Given the description of an element on the screen output the (x, y) to click on. 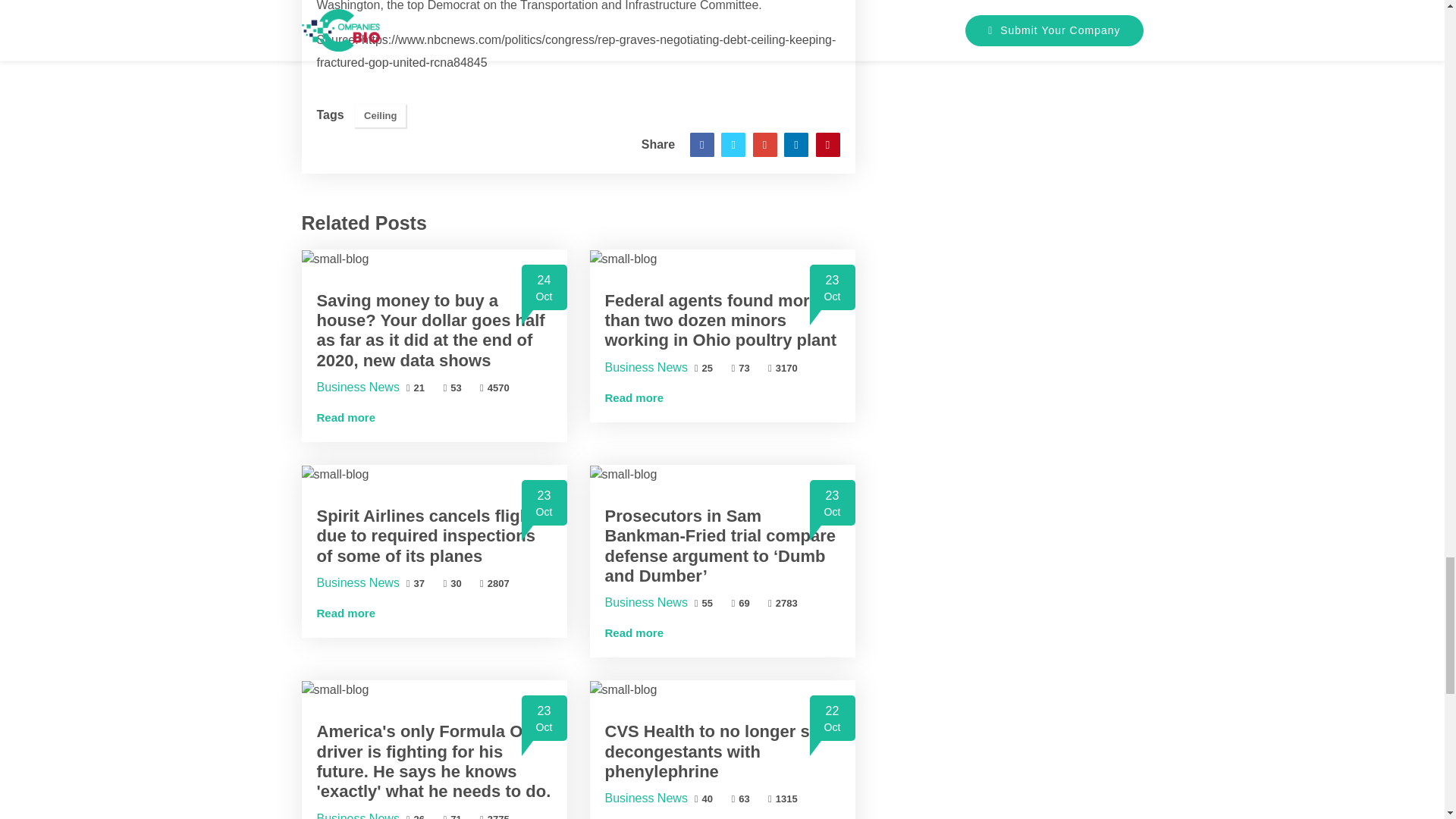
25 (703, 367)
Read more (346, 417)
Read more (634, 397)
Ceiling (380, 115)
Business News (357, 386)
Business News (646, 367)
